Given the description of an element on the screen output the (x, y) to click on. 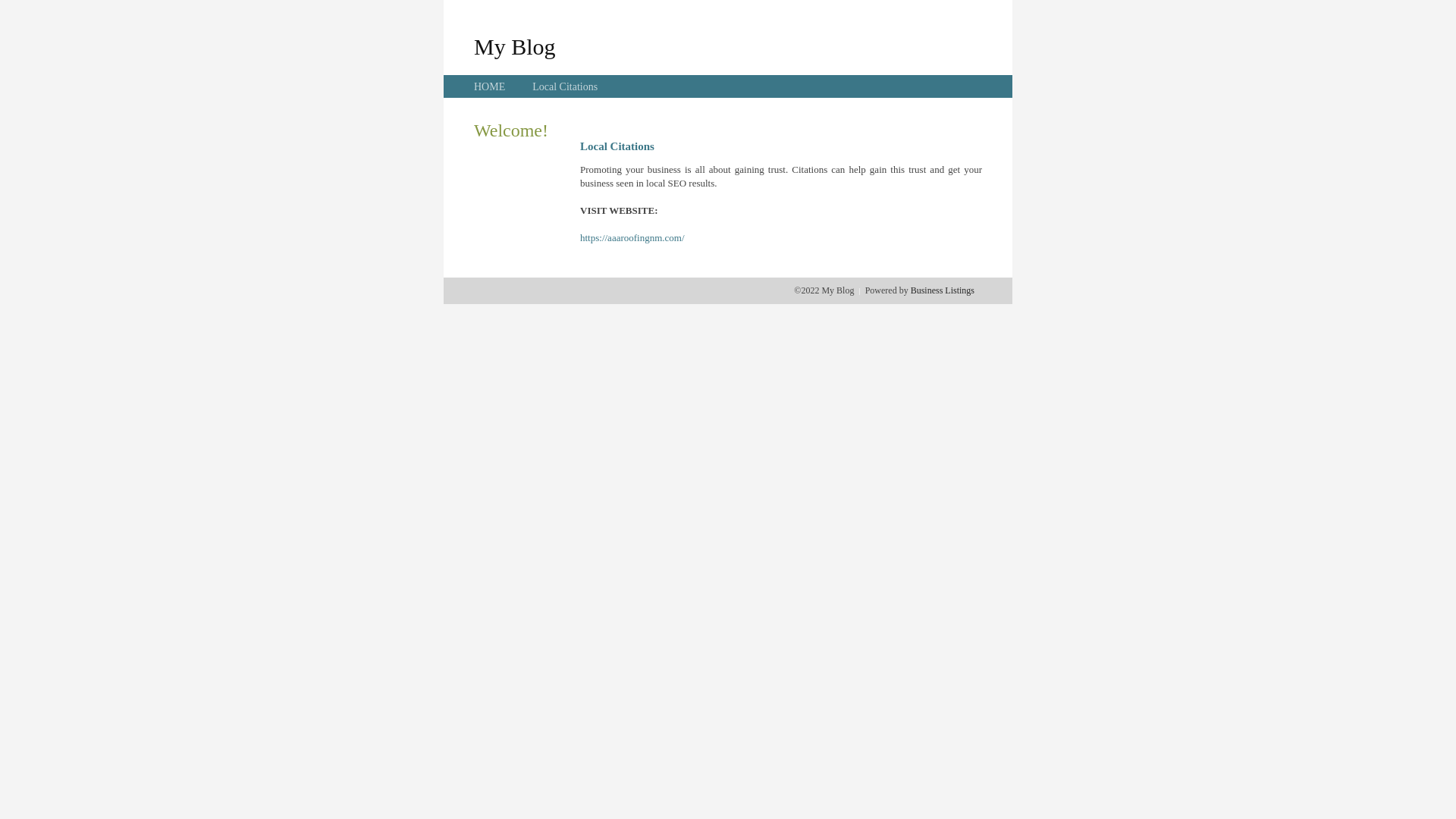
Business Listings Element type: text (942, 290)
https://aaaroofingnm.com/ Element type: text (632, 237)
My Blog Element type: text (514, 46)
HOME Element type: text (489, 86)
Local Citations Element type: text (564, 86)
